Given the description of an element on the screen output the (x, y) to click on. 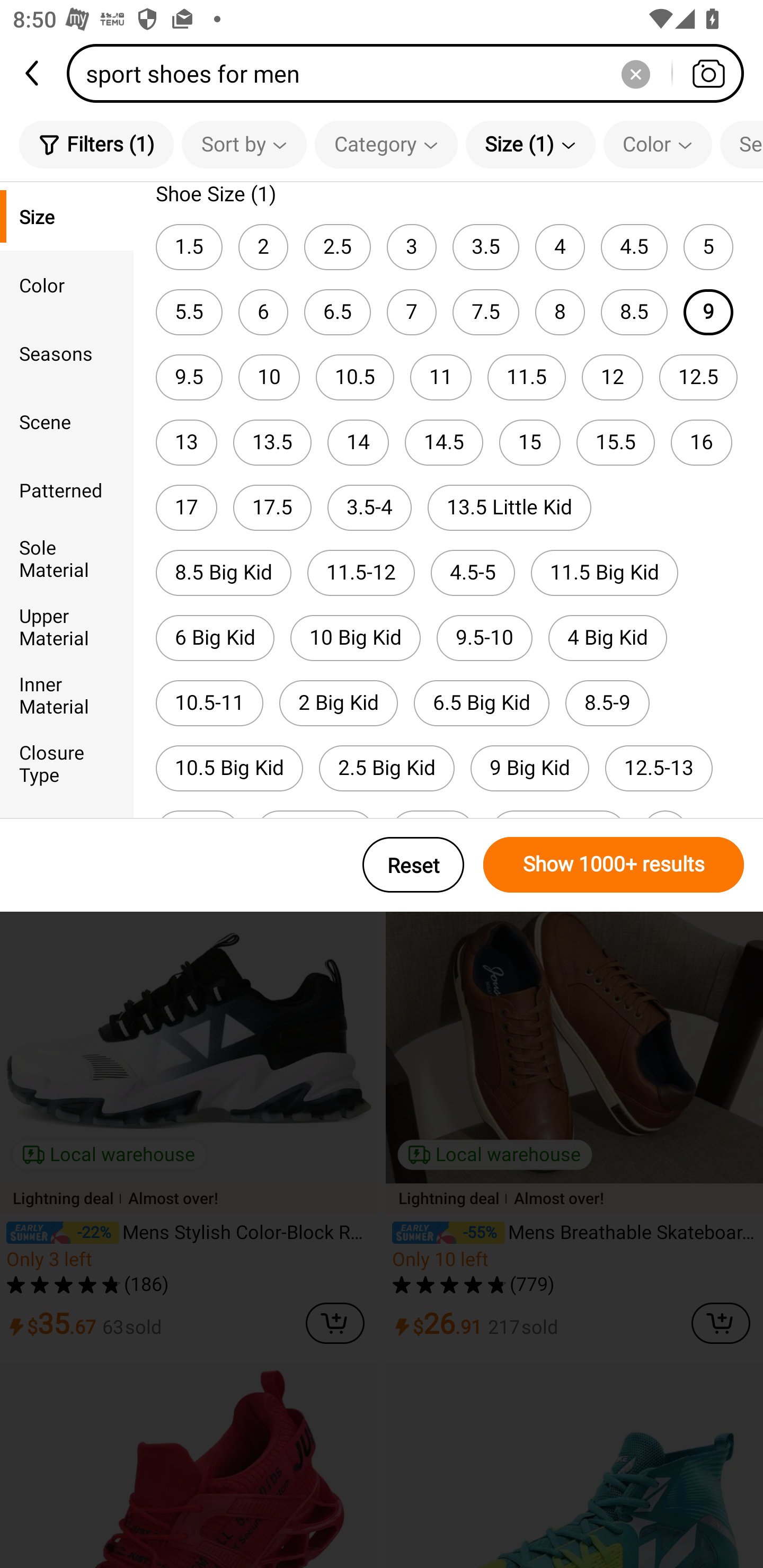
back (33, 72)
sport shoes for men (411, 73)
Delete search history (635, 73)
Search by photo (708, 73)
Filters (1) (96, 143)
Sort by (243, 143)
Category (385, 143)
Size (1) (530, 143)
Color (657, 143)
Size (66, 215)
1.5 (188, 246)
2 (263, 246)
2.5 (337, 246)
3 (411, 246)
3.5 (485, 246)
4 (559, 246)
4.5 (634, 246)
5 (708, 246)
Color (66, 284)
5.5 (188, 311)
6 (263, 311)
6.5 (337, 311)
7 (411, 311)
7.5 (485, 311)
8 (559, 311)
8.5 (634, 311)
9 (708, 311)
Seasons (66, 352)
9.5 (188, 376)
10 (268, 376)
10.5 (354, 376)
11 (440, 376)
11.5 (526, 376)
12 (612, 376)
12.5 (698, 376)
Scene (66, 421)
13 (186, 442)
13.5 (272, 442)
14 (358, 442)
14.5 (443, 442)
15 (529, 442)
15.5 (615, 442)
16 (701, 442)
Patterned (66, 489)
17 (186, 507)
17.5 (272, 507)
3.5-4 (369, 507)
13.5 Little Kid (509, 507)
Sole Material (66, 557)
8.5 Big Kid (223, 572)
